Given the description of an element on the screen output the (x, y) to click on. 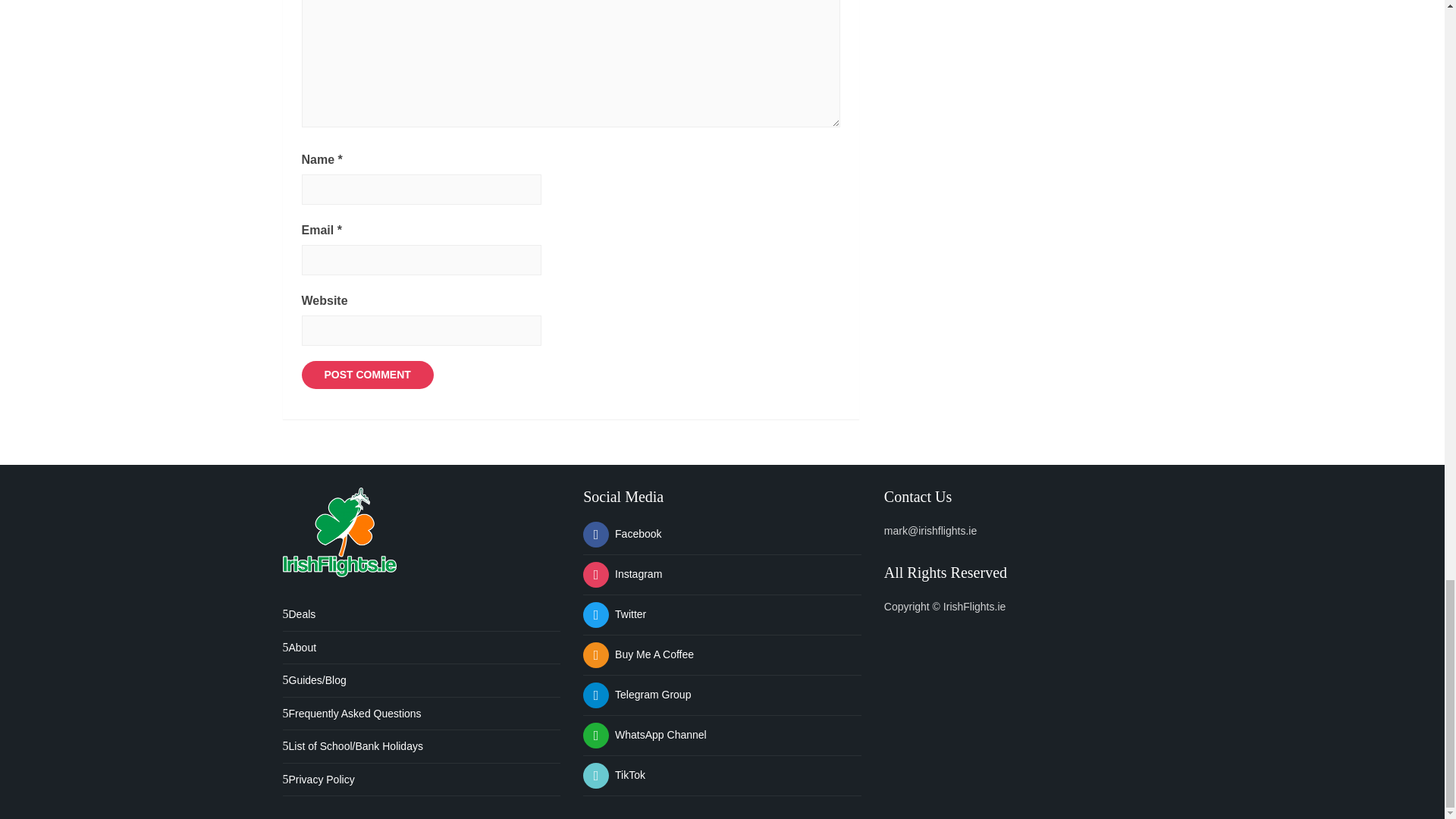
Telegram Group (636, 694)
About (298, 647)
Frequently Asked Questions (351, 713)
Facebook (622, 533)
WhatsApp Channel (644, 734)
Deals (298, 613)
Instagram (622, 573)
Buy Me A Coffee (638, 654)
Twitter (614, 613)
TikTok (614, 775)
